Given the description of an element on the screen output the (x, y) to click on. 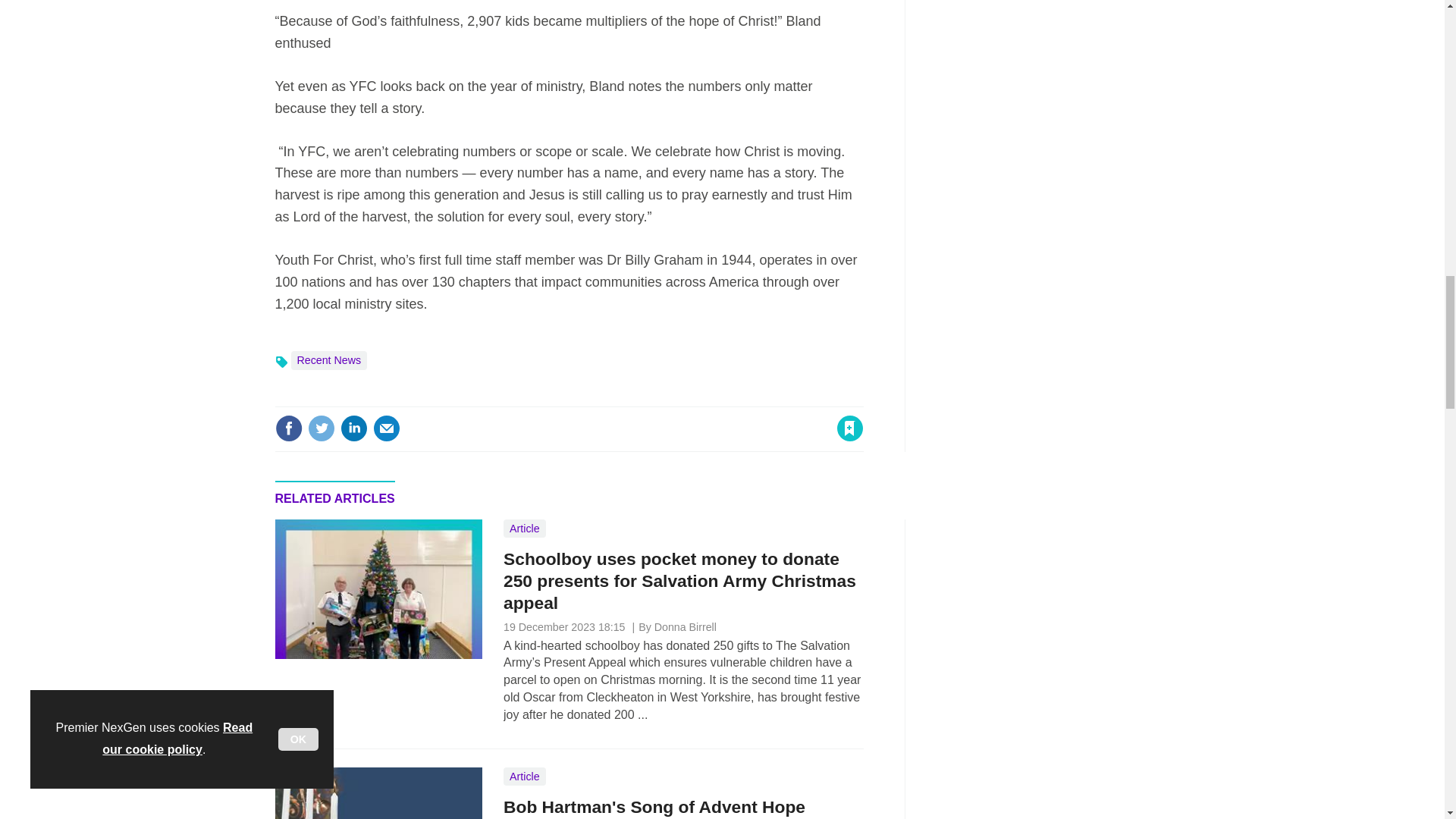
Share this on Facebook (288, 428)
Email this article (386, 428)
Share this on Twitter (320, 428)
Share this on Linked in (352, 428)
